Given the description of an element on the screen output the (x, y) to click on. 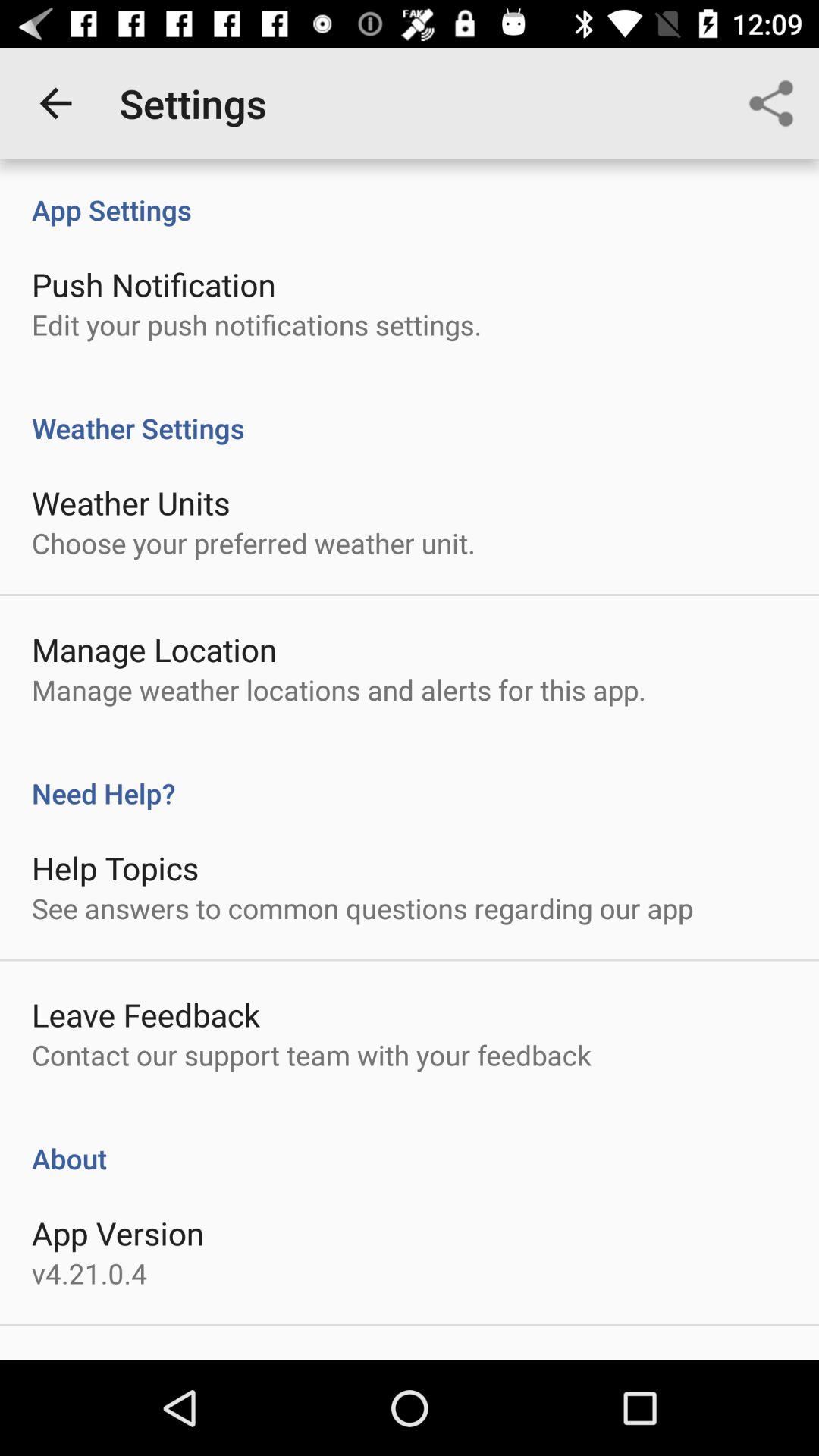
scroll to the help topics item (115, 867)
